Given the description of an element on the screen output the (x, y) to click on. 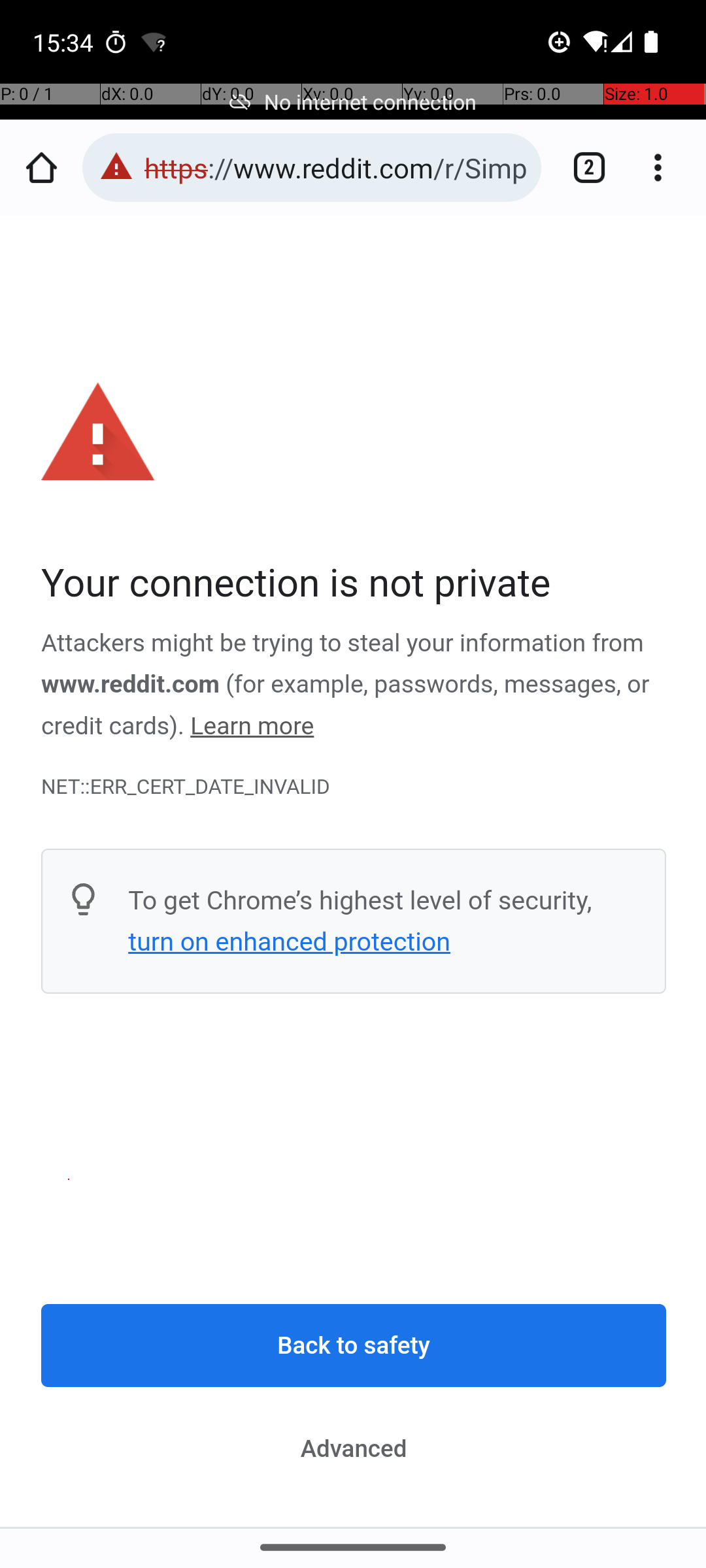
https://www.reddit.com/r/SimpleMobileTools Element type: android.widget.EditText (335, 167)
www.reddit.com Element type: android.widget.TextView (130, 684)
